Given the description of an element on the screen output the (x, y) to click on. 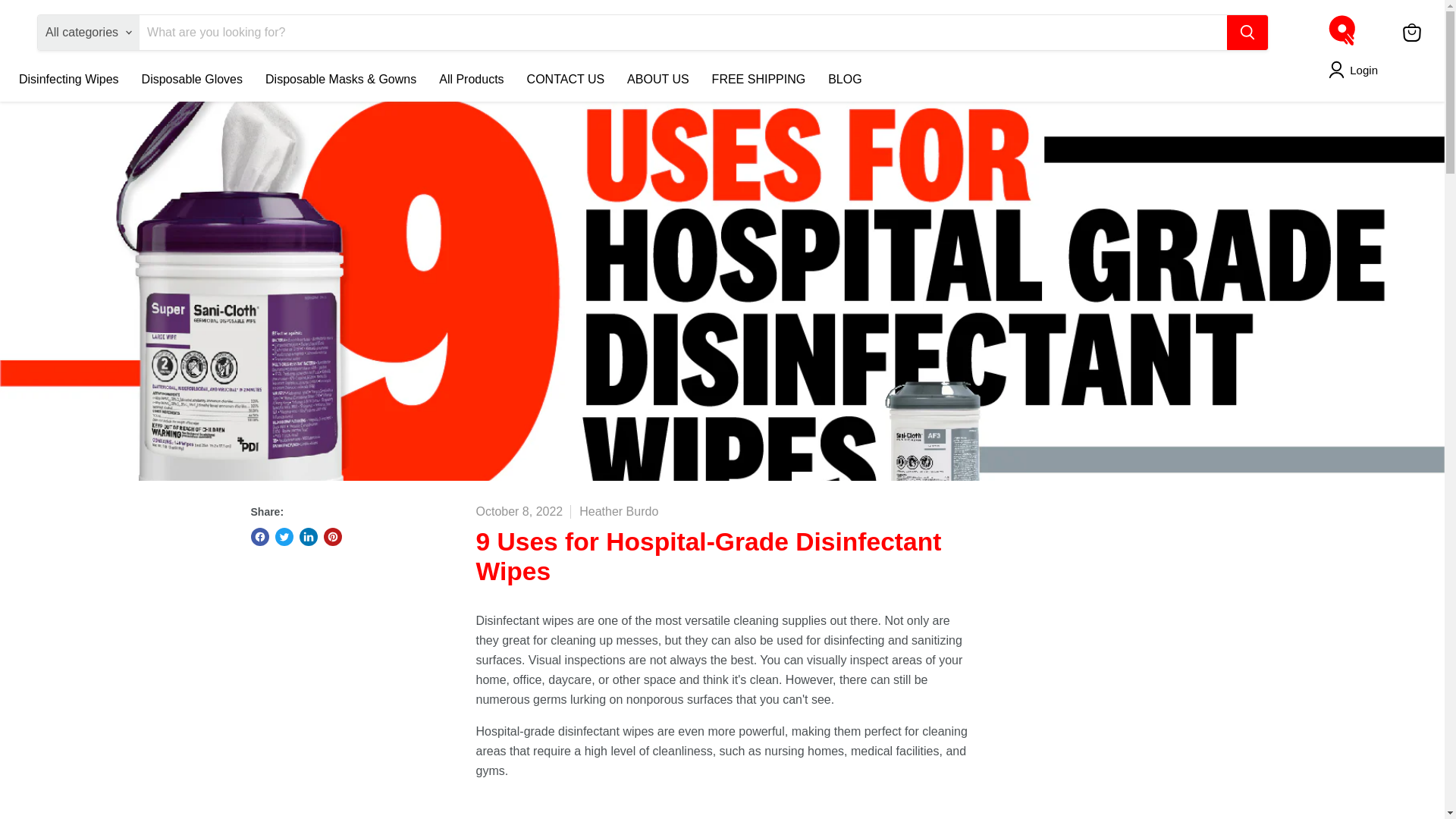
BLOG (844, 79)
Disinfecting Wipes (69, 79)
Share on LinkedIn (307, 536)
Tweet on Twitter (283, 536)
ABOUT US (657, 79)
Share on Facebook (258, 536)
Pin on Pinterest (331, 536)
View cart (1411, 32)
FREE SHIPPING (758, 79)
Disposable Gloves (192, 79)
CONTACT US (565, 79)
Login (1355, 69)
All Products (471, 79)
